Given the description of an element on the screen output the (x, y) to click on. 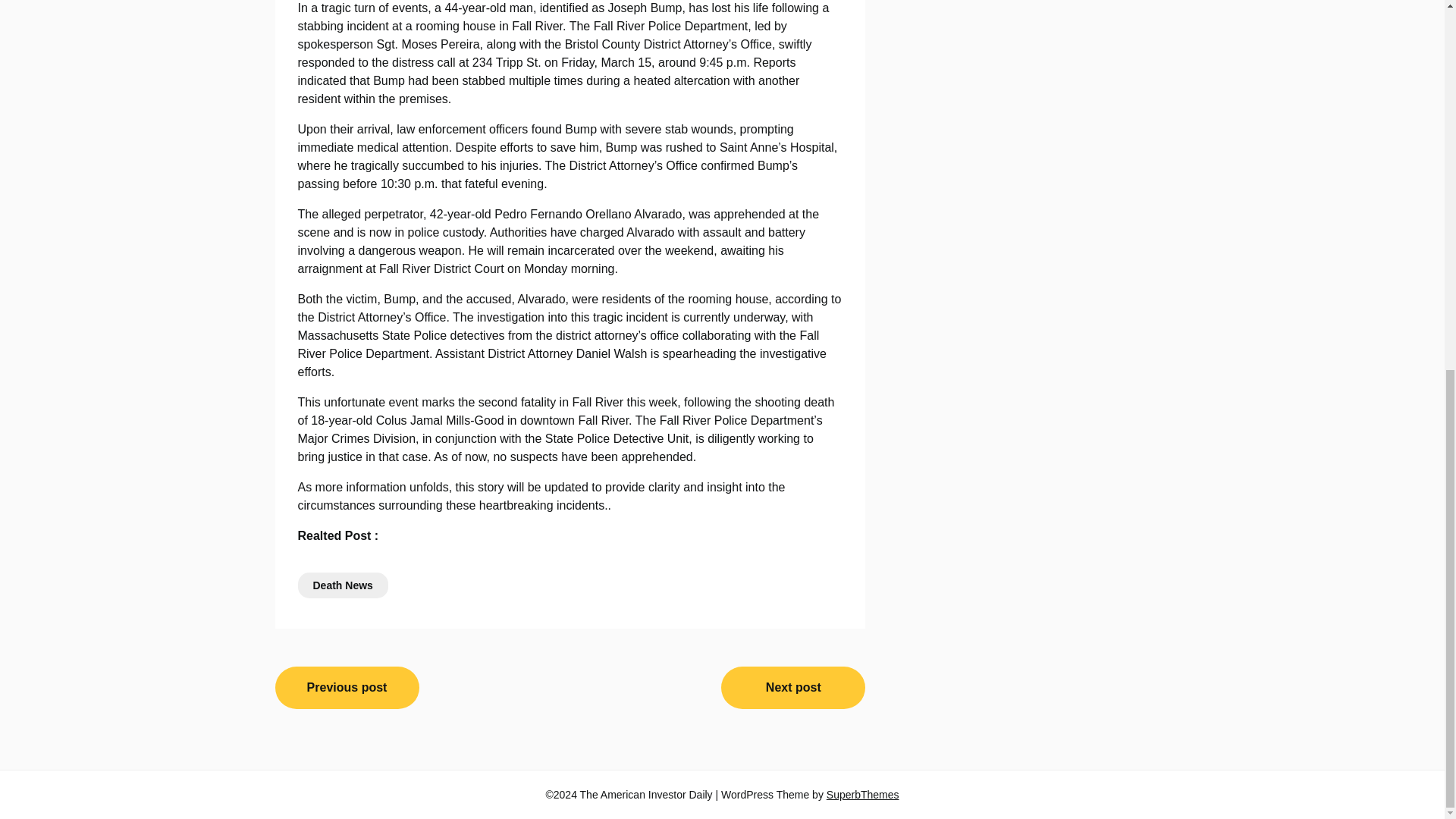
Death News (342, 585)
Next post (792, 687)
SuperbThemes (863, 794)
Previous post (347, 687)
